Given the description of an element on the screen output the (x, y) to click on. 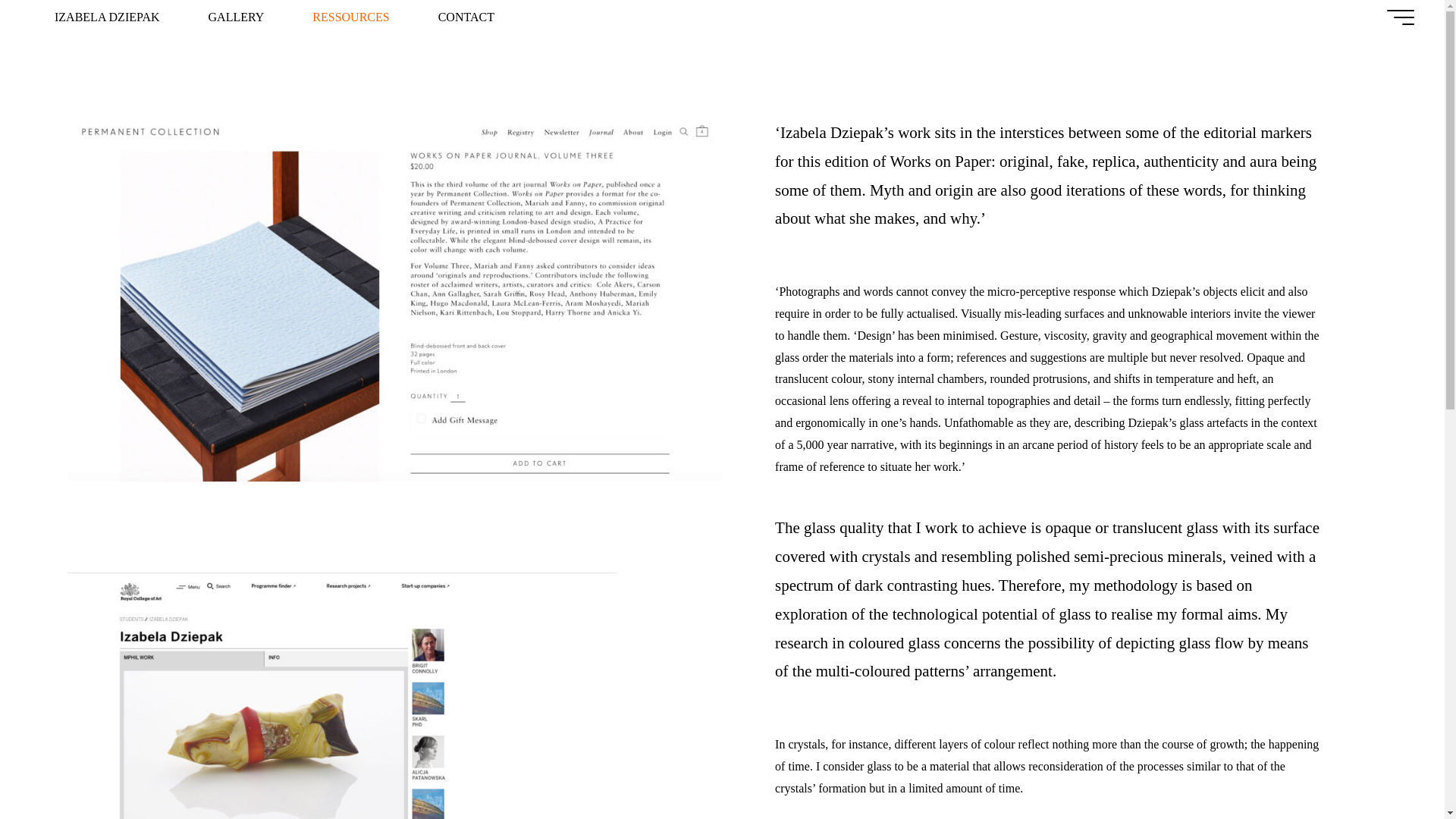
RESSOURCES (350, 17)
GALLERY (236, 17)
IZABELA DZIEPAK (107, 17)
CONTACT (465, 17)
